Given the description of an element on the screen output the (x, y) to click on. 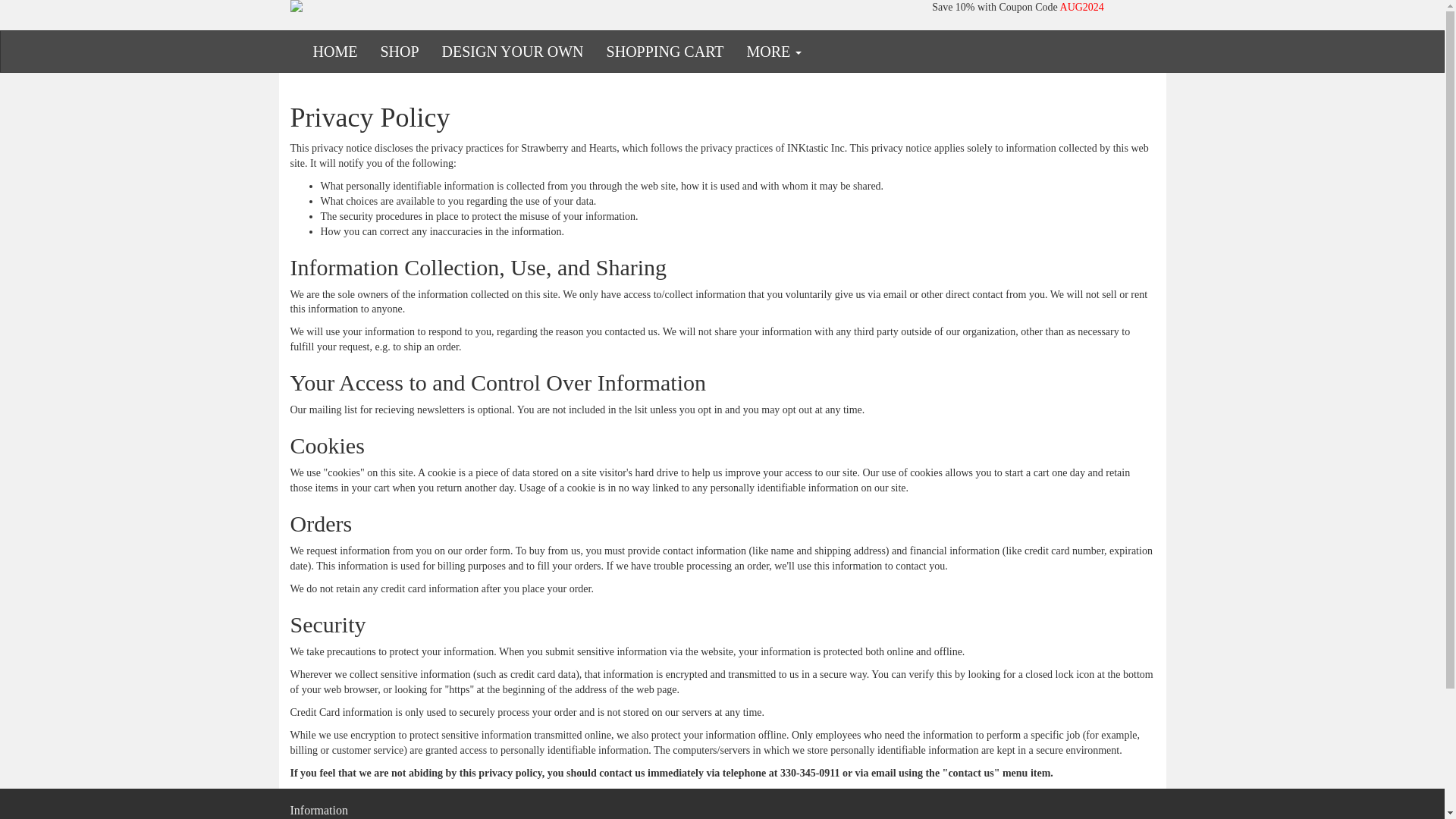
SHOP (398, 51)
HOME (335, 51)
MORE (774, 51)
Strawberry and Hearts (574, 6)
DESIGN YOUR OWN (512, 51)
SHOPPING CART (665, 51)
